Given the description of an element on the screen output the (x, y) to click on. 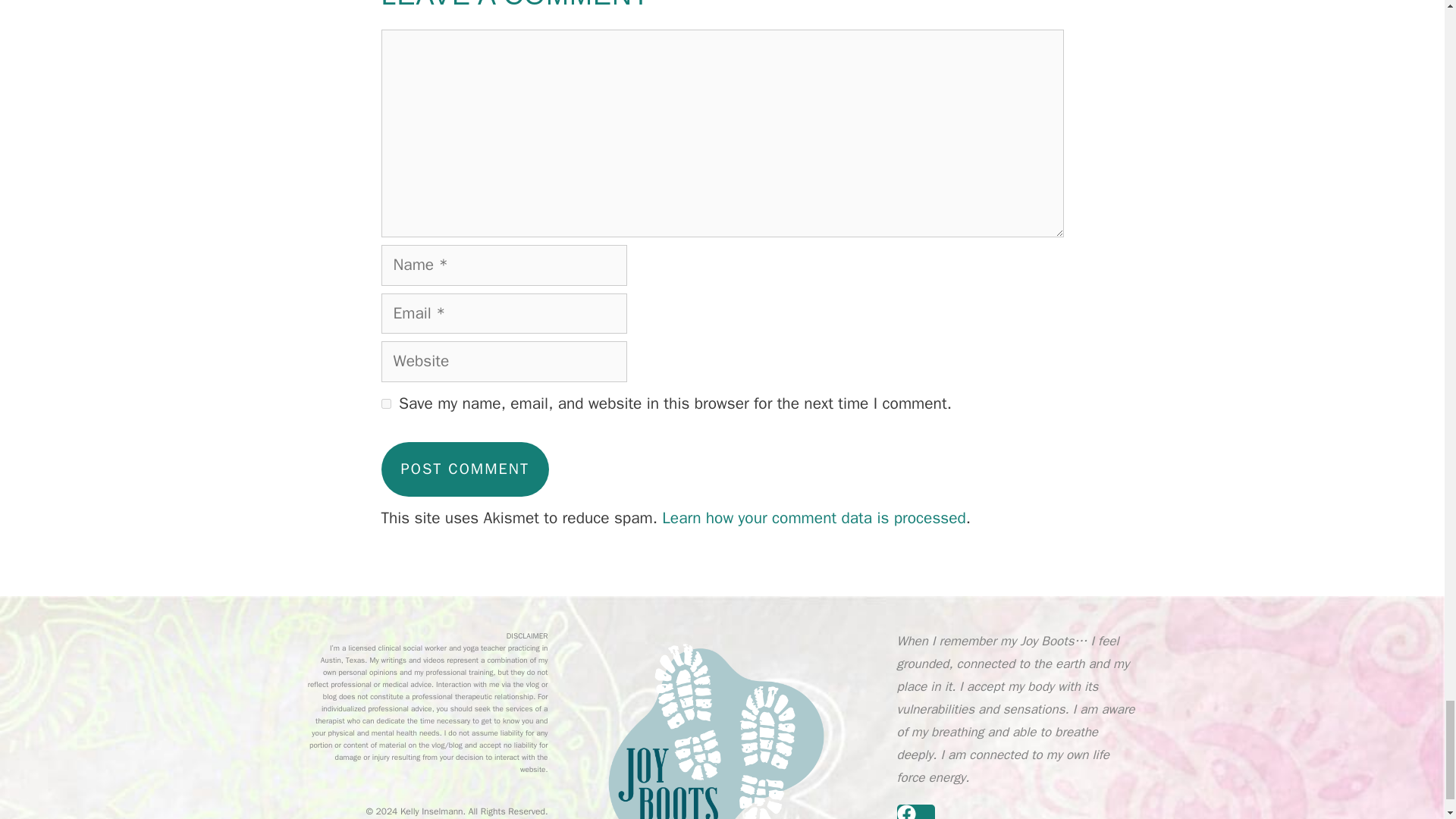
Post Comment (464, 469)
yes (385, 403)
